Given the description of an element on the screen output the (x, y) to click on. 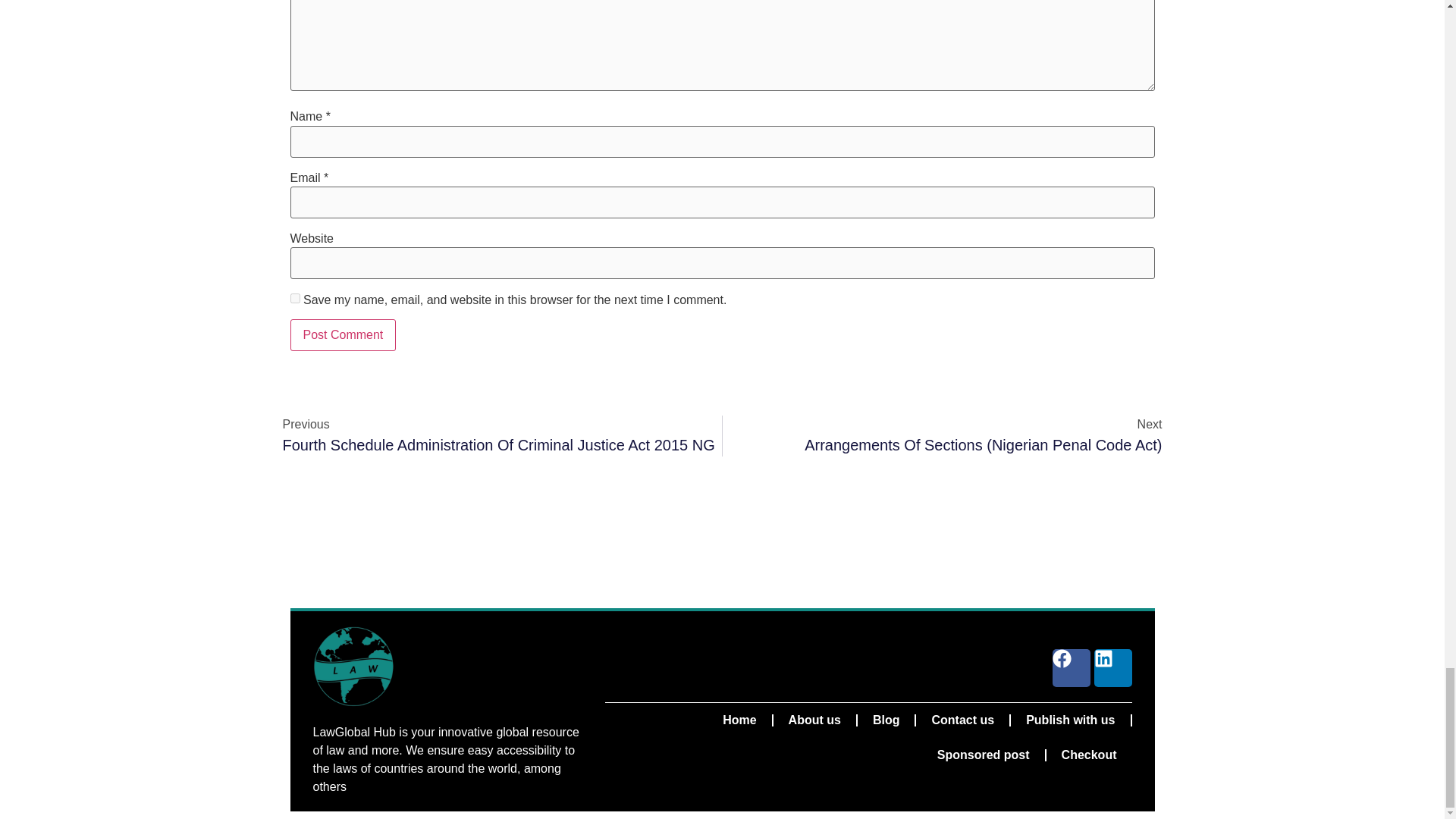
yes (294, 298)
Post Comment (342, 335)
